Given the description of an element on the screen output the (x, y) to click on. 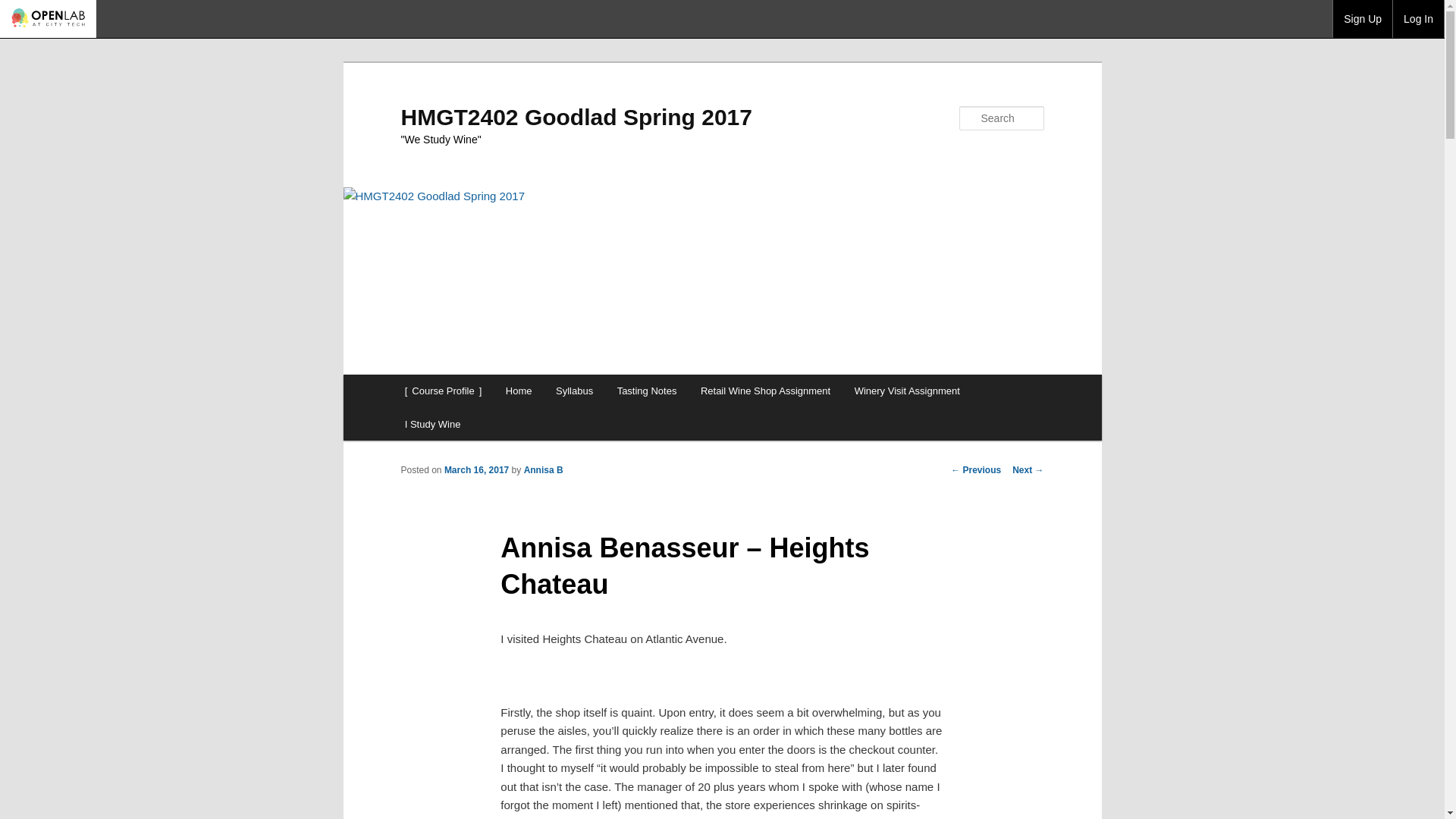
Home (518, 390)
Syllabus (574, 390)
3:42 am (476, 470)
Sign Up (1362, 18)
HMGT2402 Goodlad Spring 2017 (575, 116)
I Study Wine (432, 423)
Winery Visit Assignment (907, 390)
View all posts by Annisa B (543, 470)
Search (24, 8)
Course Profile (443, 390)
Tasting Notes (646, 390)
Retail Wine Shop Assignment (765, 390)
Annisa B (543, 470)
March 16, 2017 (476, 470)
